Given the description of an element on the screen output the (x, y) to click on. 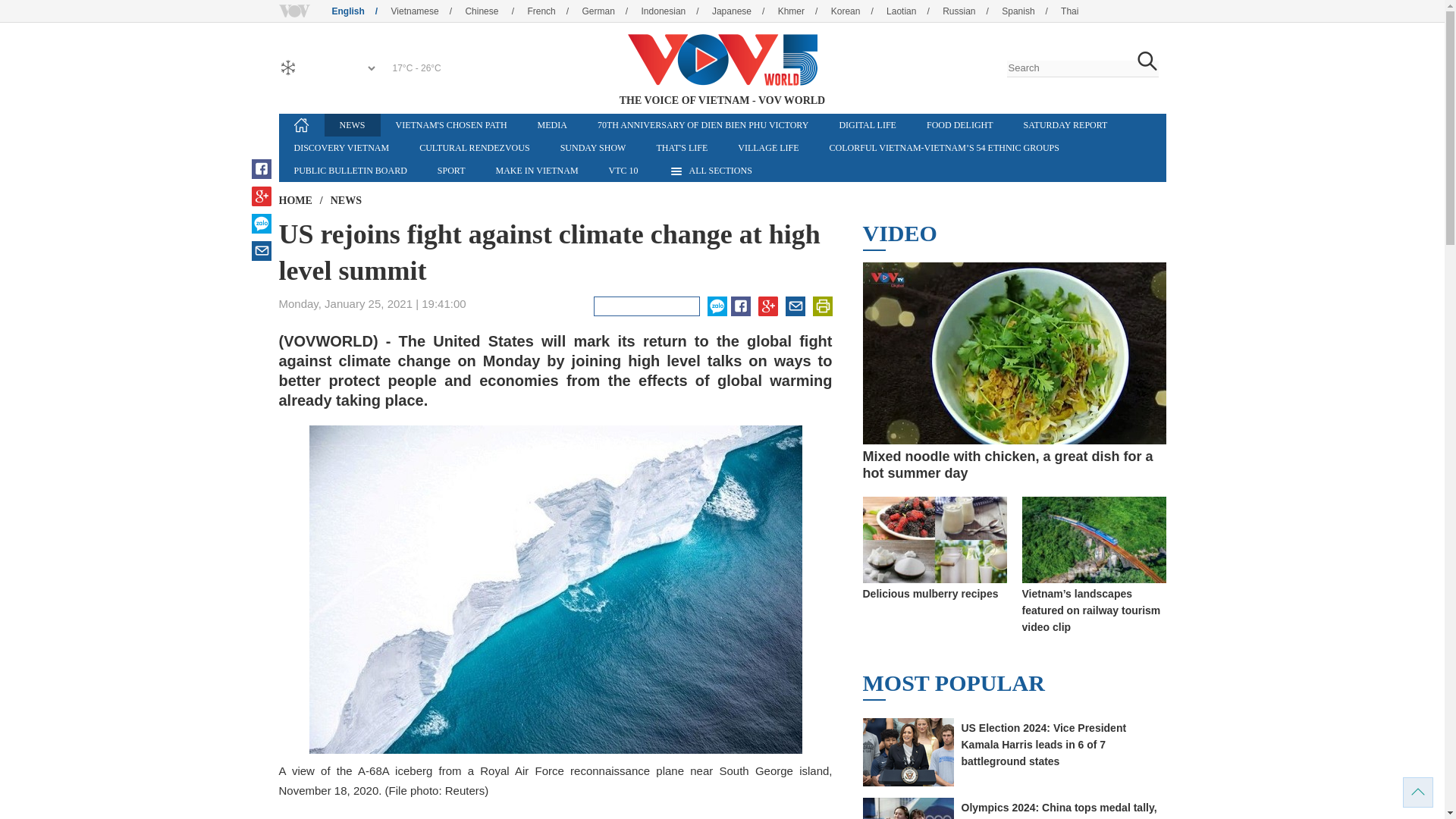
Media (552, 124)
Village life (767, 147)
MAKE IN VIETNAM (536, 169)
THAT'S LIFE (681, 147)
PUBLIC BULLETIN BOARD (350, 169)
Sunday Show (593, 147)
Indonesian (676, 10)
Vietnam's chosen path (451, 124)
CULTURAL RENDEZVOUS (474, 147)
70TH ANNIVERSARY OF DIEN BIEN PHU VICTORY (703, 124)
THE VOICE OF VIETNAM - VOV WORLD (721, 59)
English (721, 59)
Spanish (1029, 10)
Japanese (742, 10)
Digital life (867, 124)
